Given the description of an element on the screen output the (x, y) to click on. 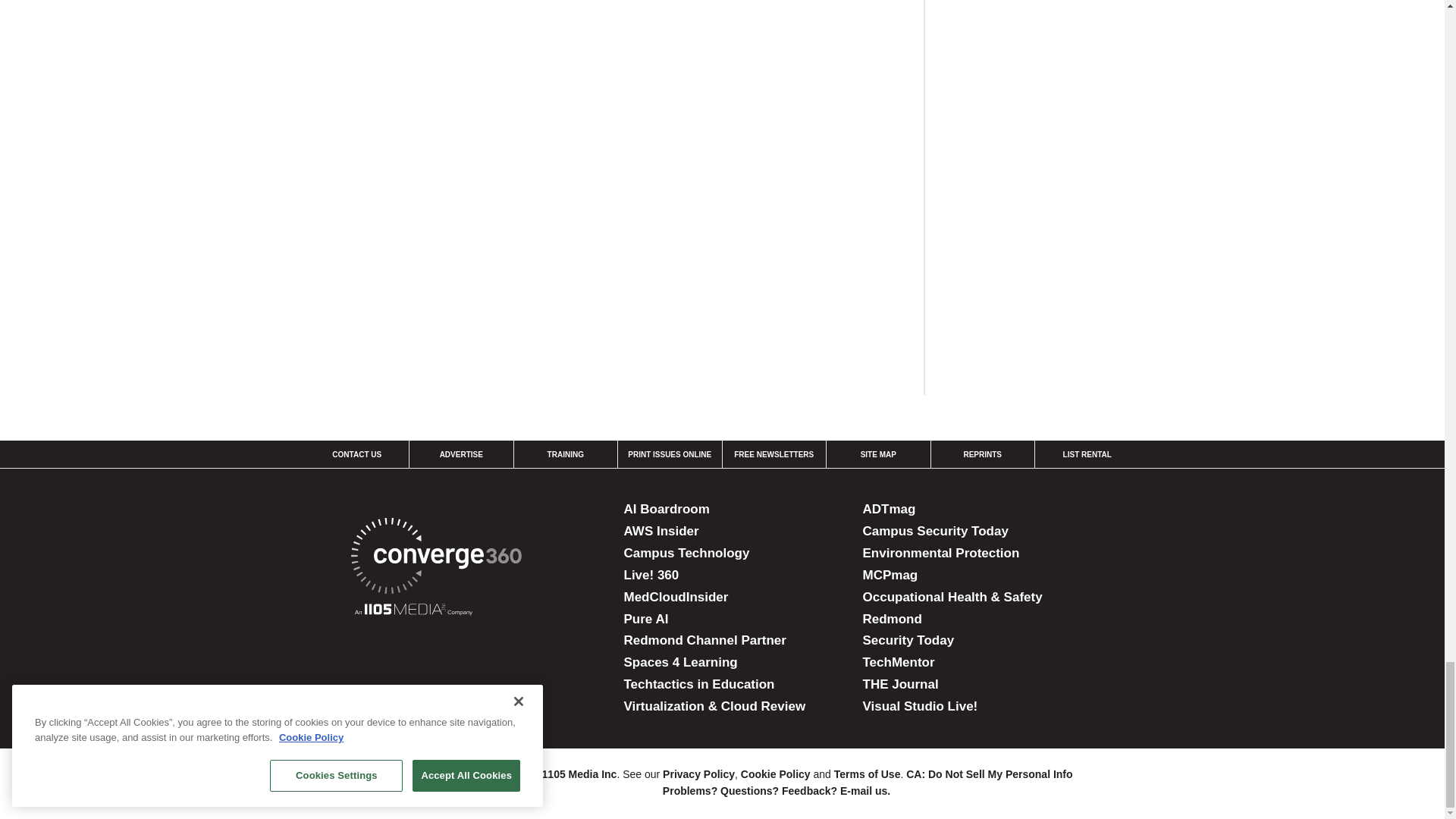
3rd party ad content (1059, 262)
3rd party ad content (1059, 64)
